Given the description of an element on the screen output the (x, y) to click on. 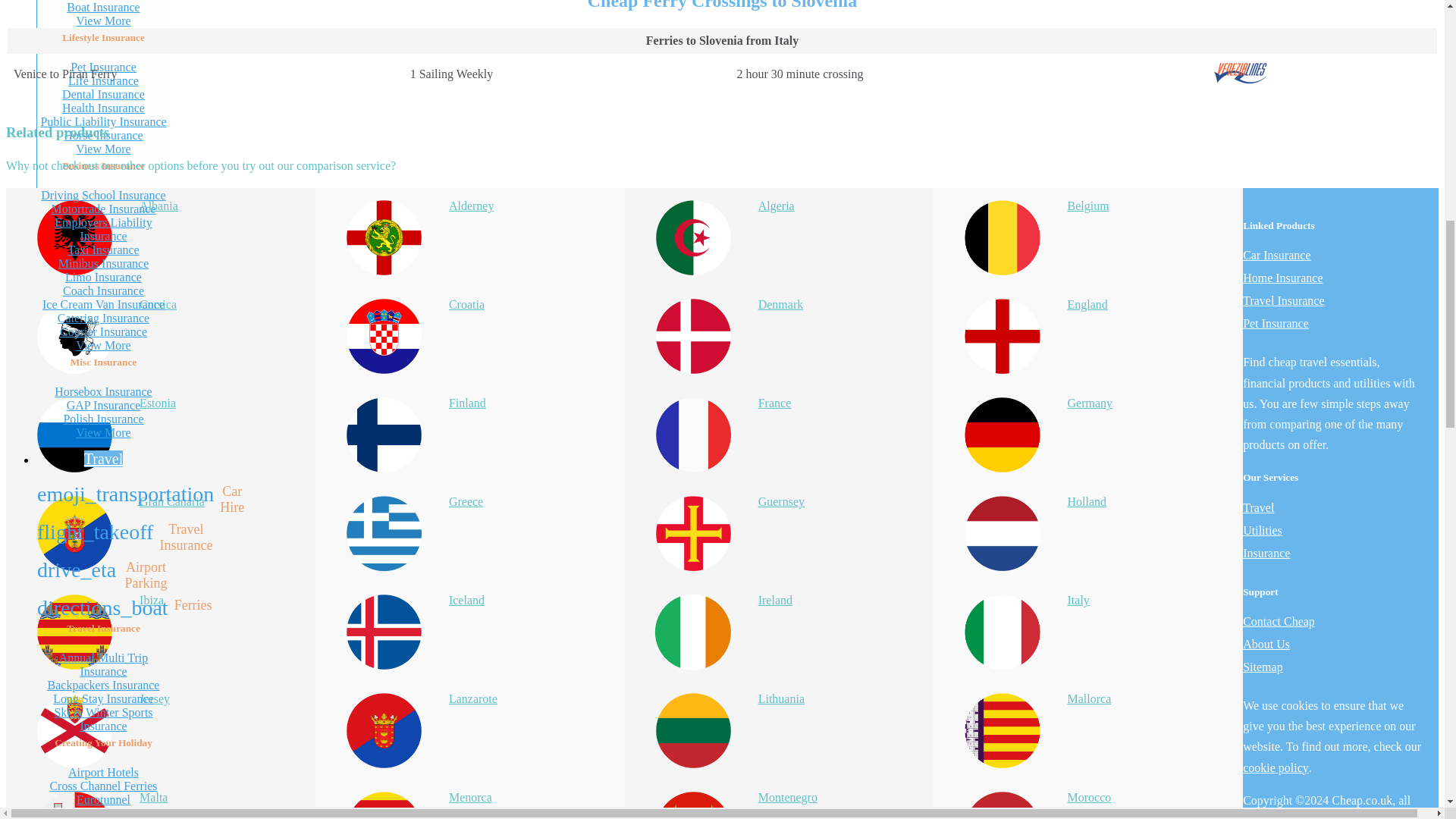
Dental Insurance (103, 93)
Horse Insurance (103, 134)
Boat Insurance (102, 6)
privacy policy (1366, 814)
Health Insurance (103, 107)
View More (103, 148)
Life Insurance (103, 80)
Public Liability Insurance (102, 121)
Pet Insurance (102, 66)
View More (103, 20)
Provided by Venezia Lines (1240, 79)
